Given the description of an element on the screen output the (x, y) to click on. 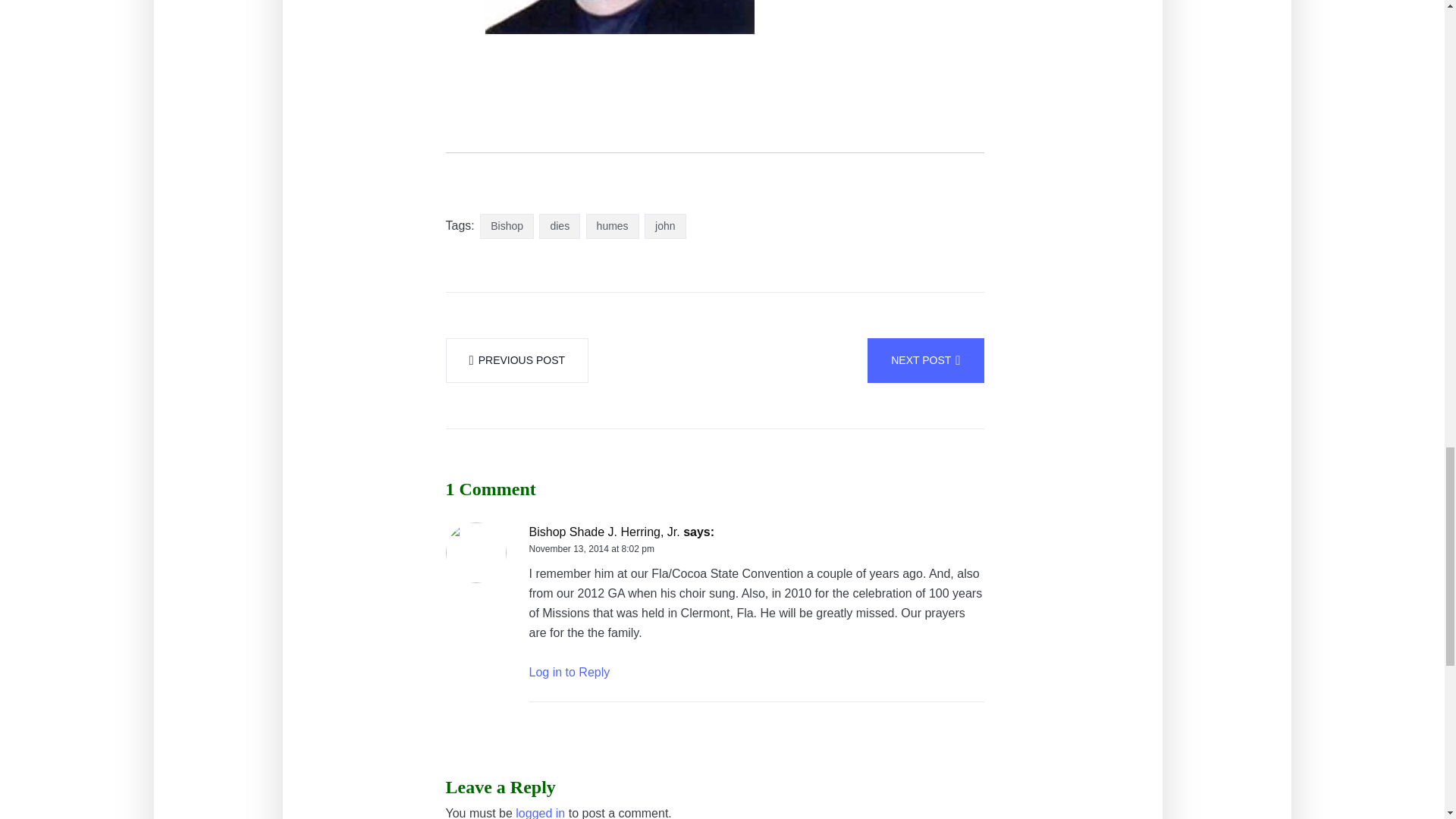
dies (558, 226)
john (665, 226)
humes (612, 226)
Log in to Reply (569, 672)
logged in (539, 811)
NEXT POST (925, 360)
Bishop (507, 226)
PREVIOUS POST (517, 360)
